Given the description of an element on the screen output the (x, y) to click on. 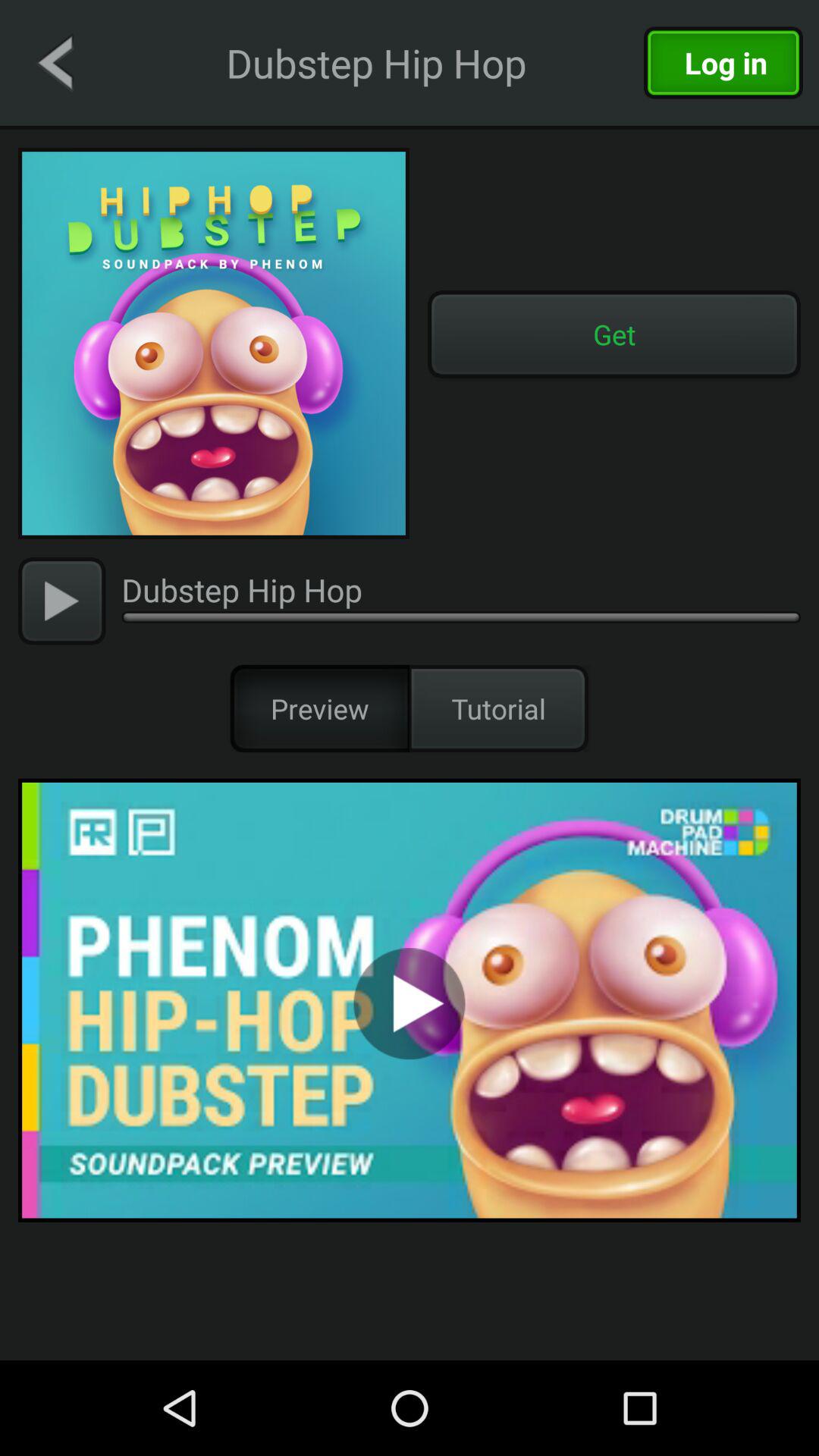
play the video (61, 600)
